Given the description of an element on the screen output the (x, y) to click on. 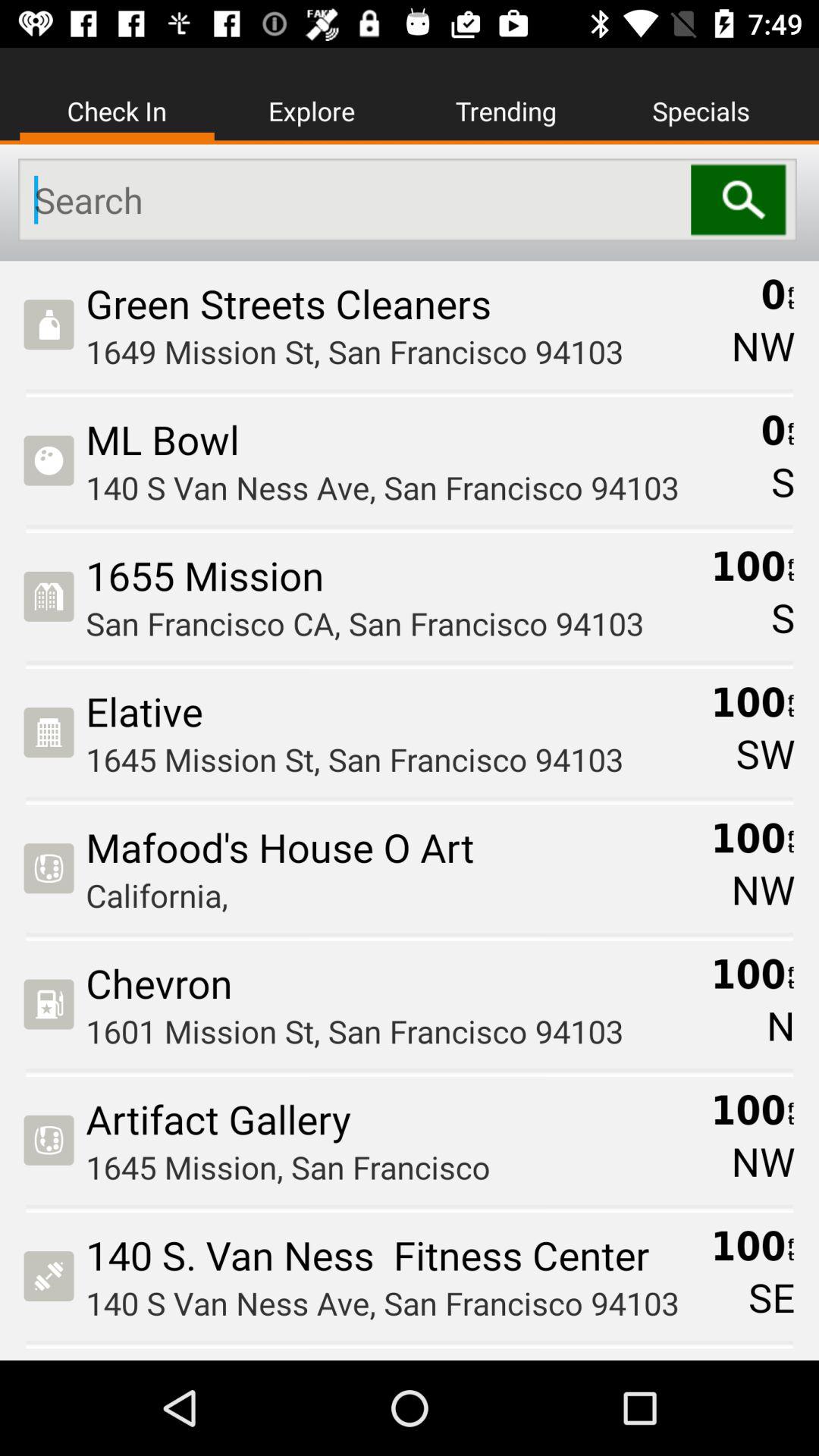
turn off the item next to the elative (765, 752)
